Given the description of an element on the screen output the (x, y) to click on. 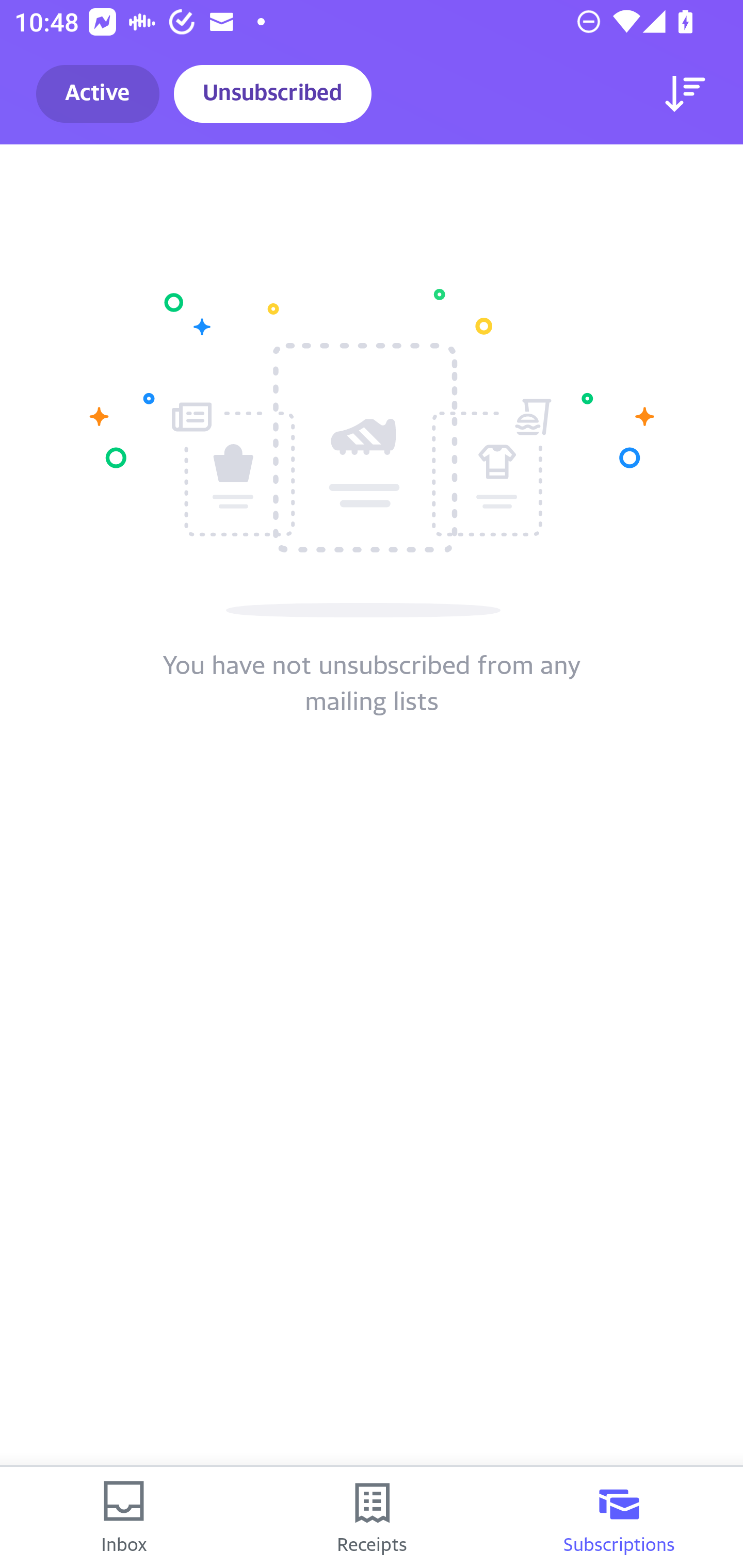
Active (97, 93)
Sort (684, 93)
Inbox (123, 1517)
Receipts (371, 1517)
Subscriptions (619, 1517)
